Given the description of an element on the screen output the (x, y) to click on. 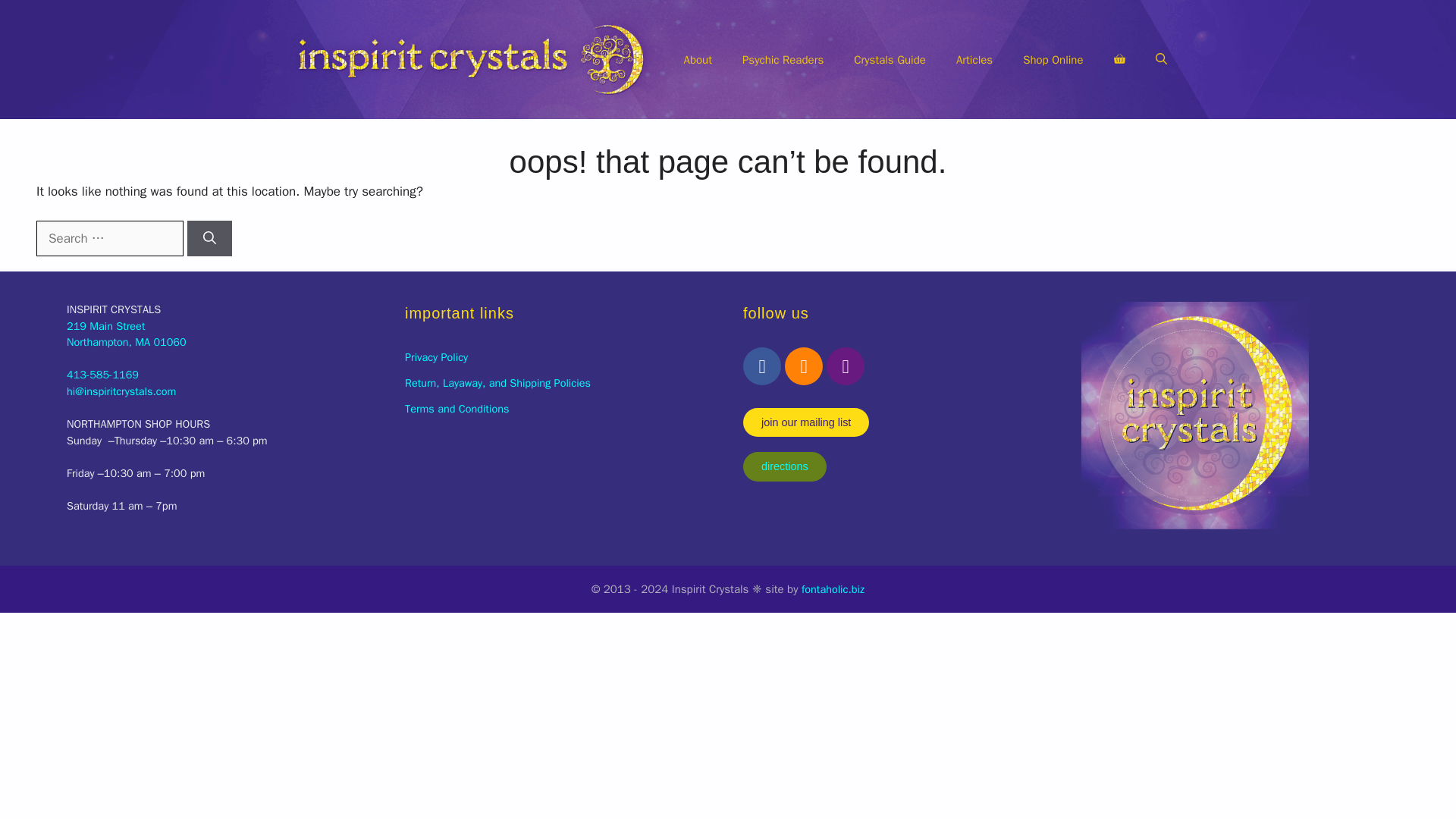
fontaholic.biz (833, 589)
413-585-1169 (102, 374)
Privacy Policy (126, 334)
Crystals Guide (435, 356)
Return, Layaway, and Shipping Policies (889, 59)
Psychic Readers (497, 382)
Terms and Conditions (782, 59)
Search for: (456, 408)
Shop Online (109, 238)
Articles (1052, 59)
About (973, 59)
directions (697, 59)
join our mailing list (784, 466)
View your shopping cart (805, 421)
